Given the description of an element on the screen output the (x, y) to click on. 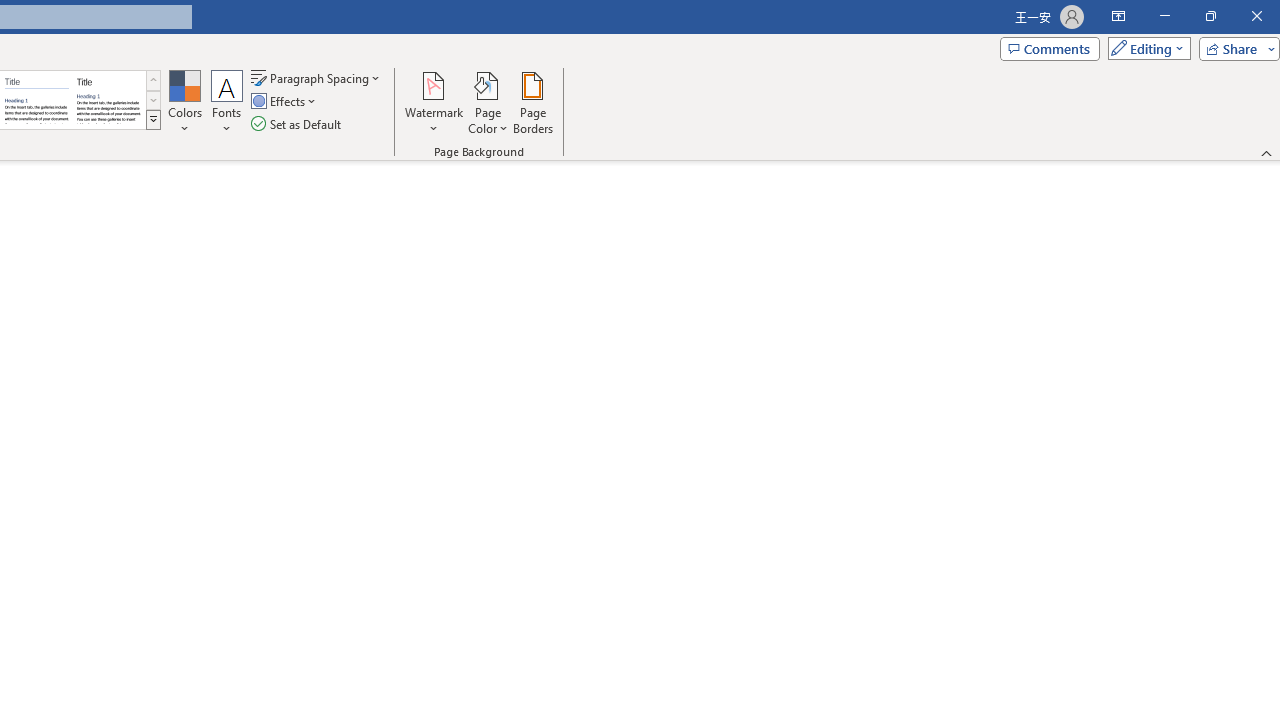
Set as Default (298, 124)
Effects (285, 101)
